Given the description of an element on the screen output the (x, y) to click on. 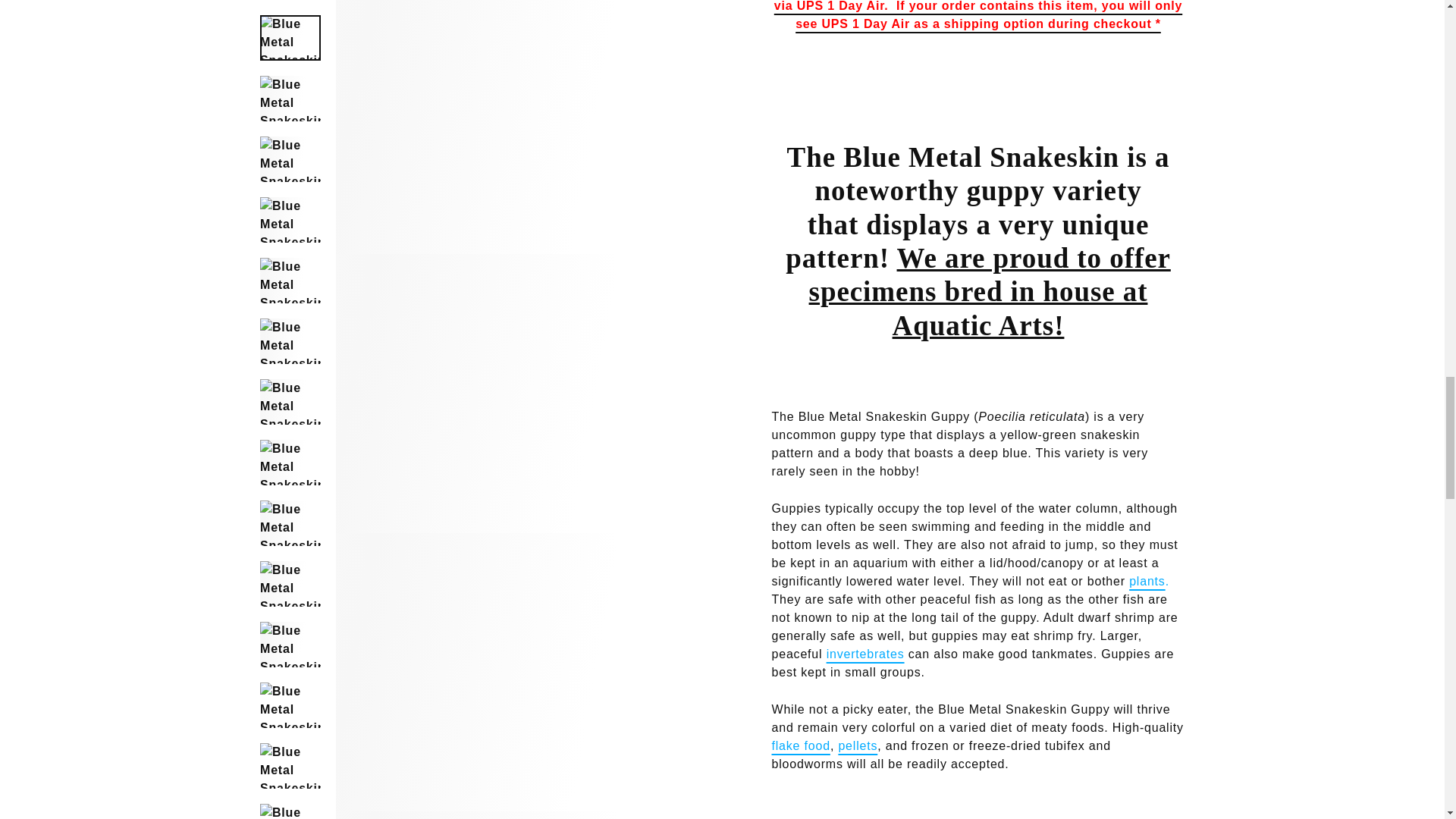
Share on Facebook (904, 52)
Pin on Pinterest (1054, 52)
Tweet on Twitter (980, 52)
